Given the description of an element on the screen output the (x, y) to click on. 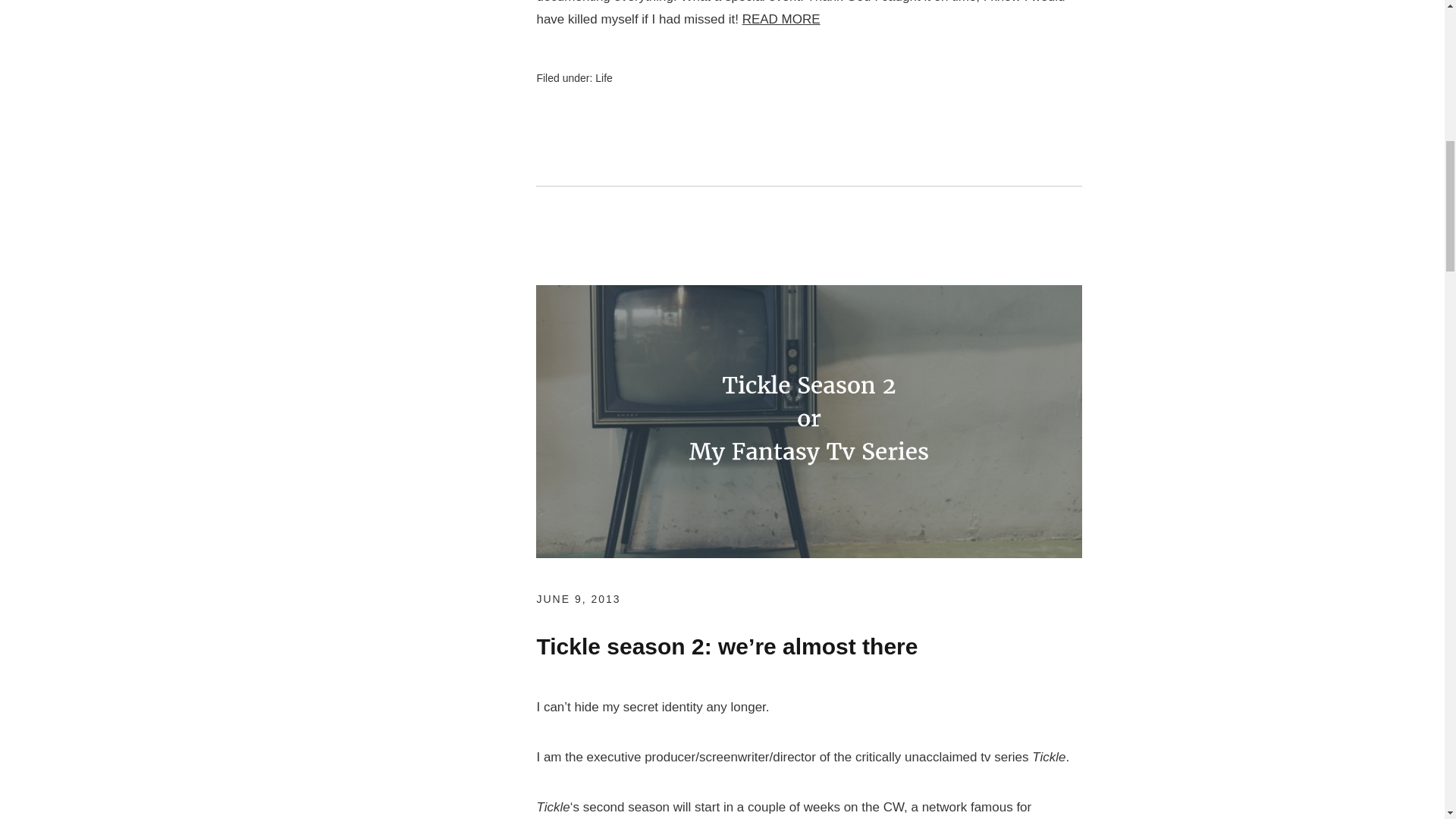
Life (603, 78)
READ MORE (781, 19)
JUNE 9, 2013 (577, 598)
